Given the description of an element on the screen output the (x, y) to click on. 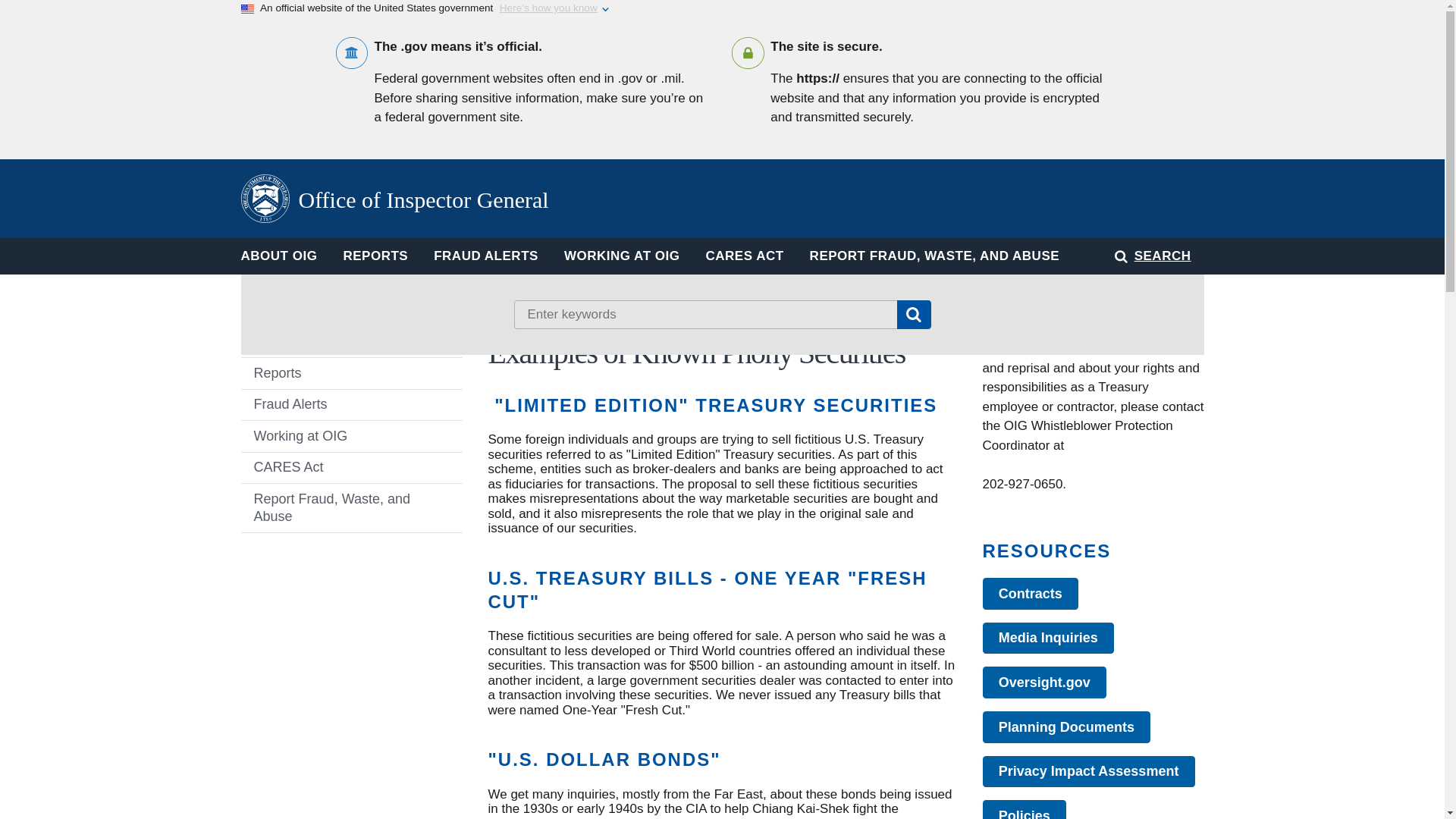
REPORT FRAUD, WASTE, AND ABUSE (934, 256)
Media Inquiries (1048, 638)
Privacy Impact Assessment (1088, 771)
CARES ACT (744, 256)
Planning Documents (1066, 726)
About OIG (352, 341)
Office of Inspector General (394, 198)
Search (913, 314)
Fraud Alerts (352, 404)
Contracts (1030, 593)
